Given the description of an element on the screen output the (x, y) to click on. 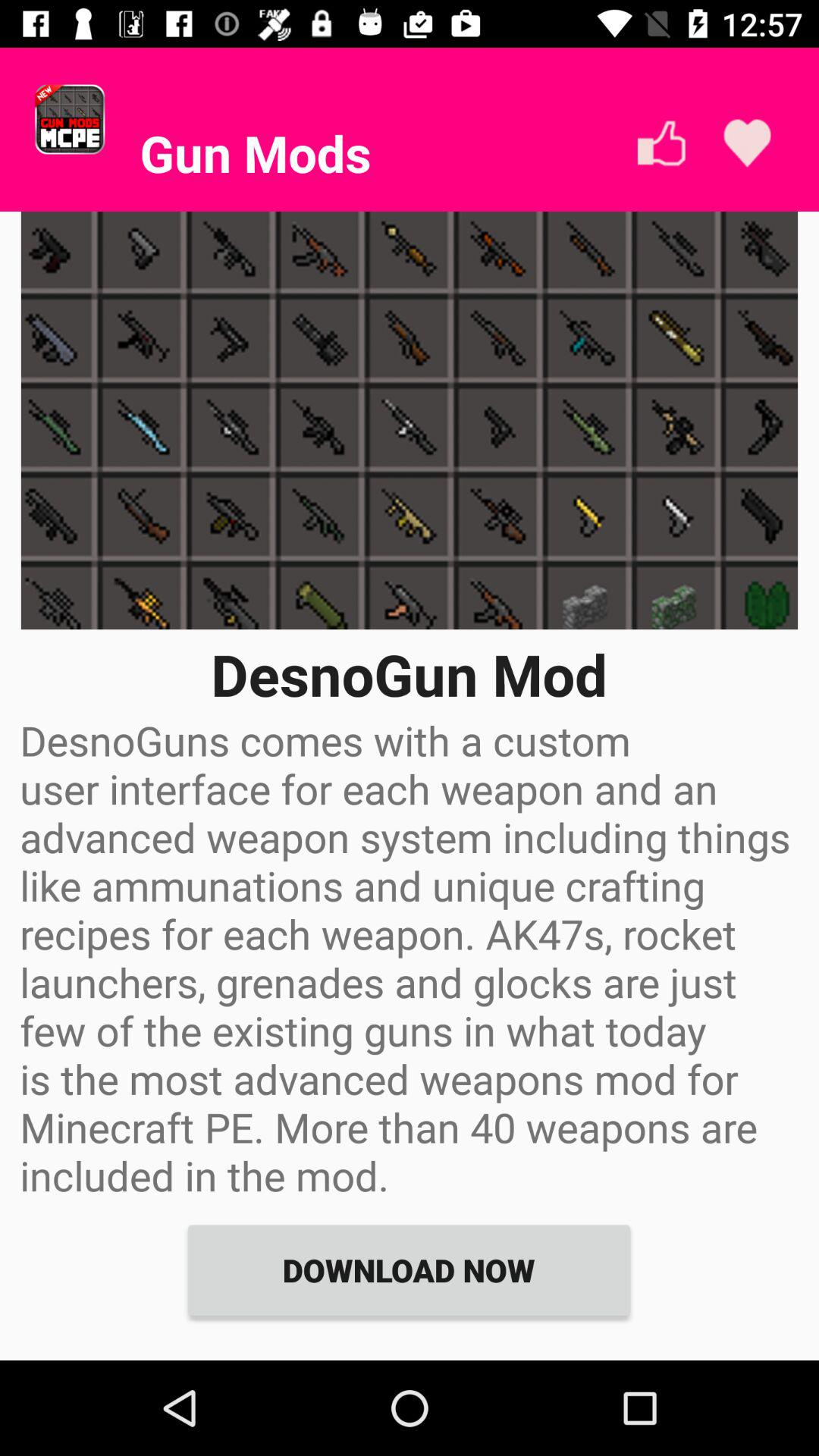
select the download now icon (409, 1270)
